Given the description of an element on the screen output the (x, y) to click on. 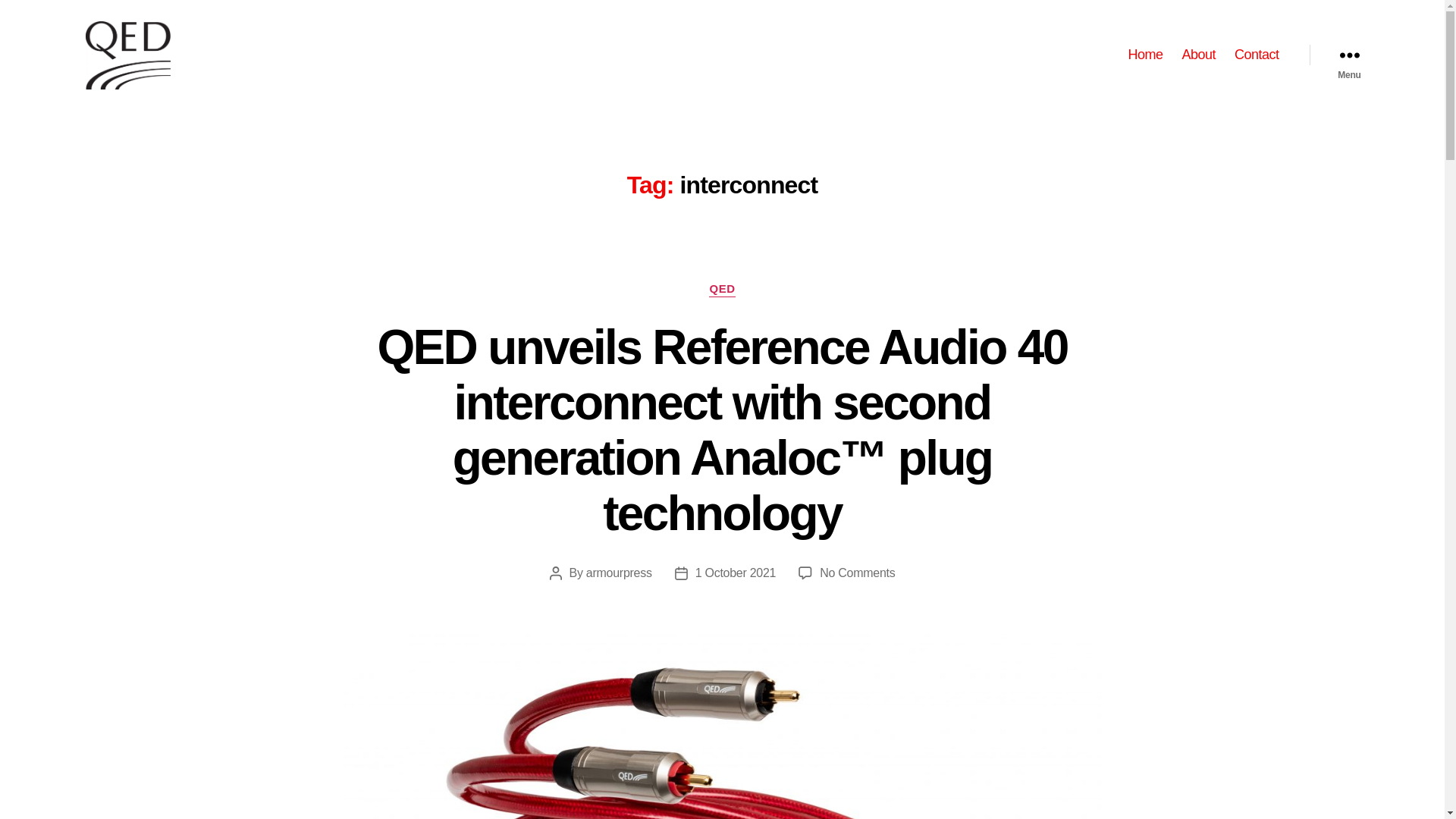
QED (722, 289)
Menu (1348, 55)
About (1197, 54)
1 October 2021 (735, 572)
Home (1143, 54)
Contact (1256, 54)
armourpress (619, 572)
